Given the description of an element on the screen output the (x, y) to click on. 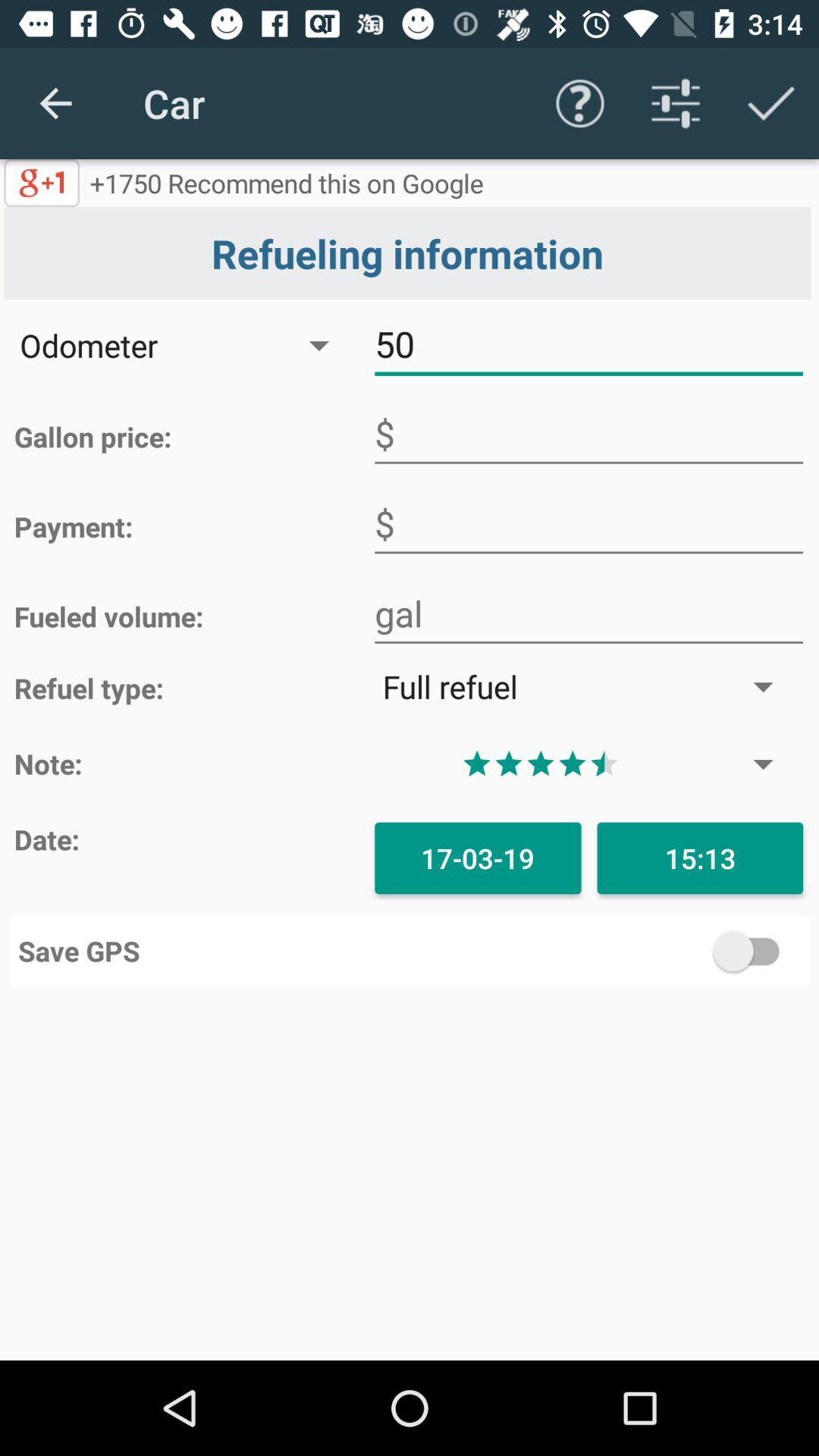
enter fuel volume (588, 614)
